Given the description of an element on the screen output the (x, y) to click on. 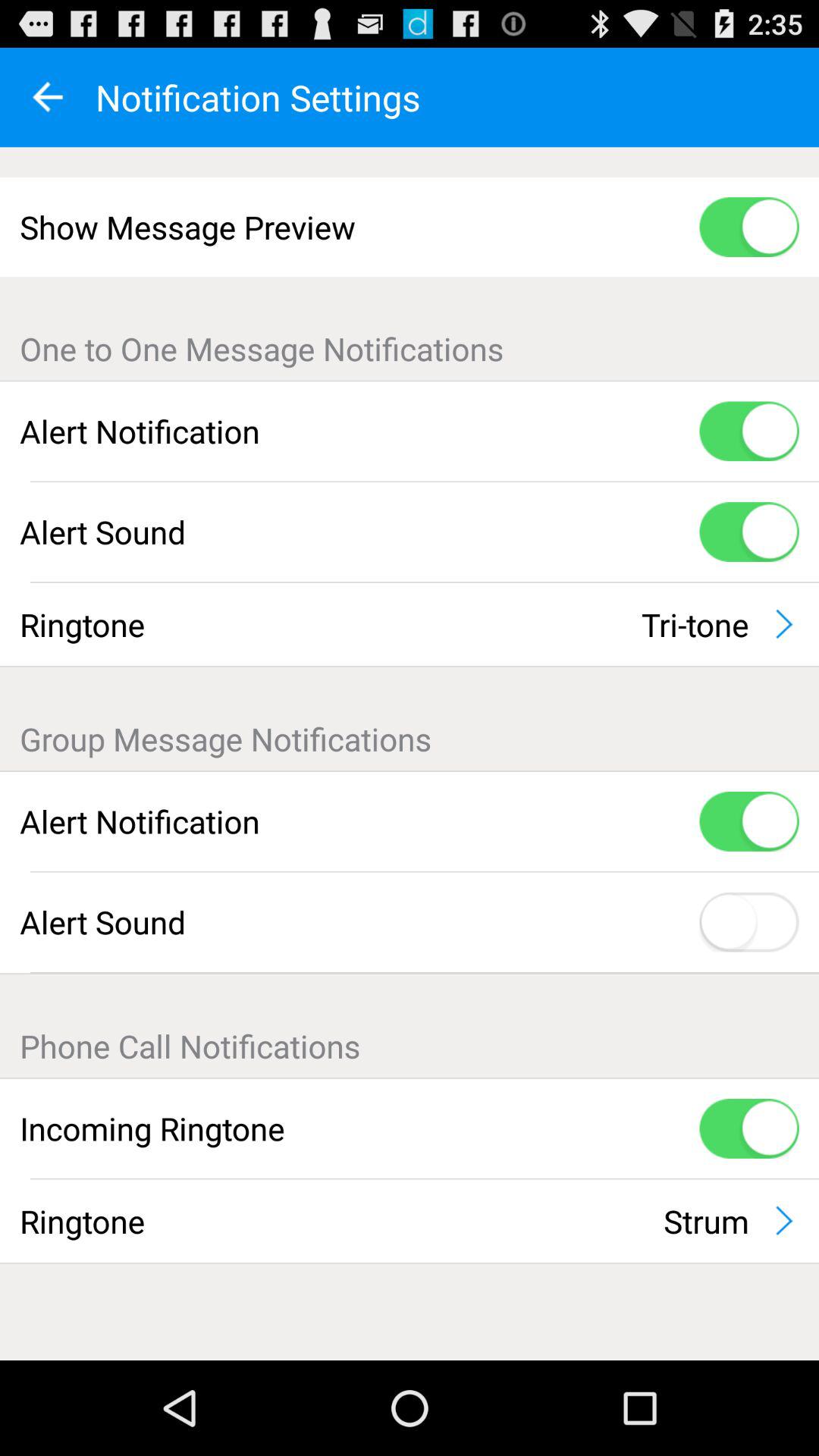
open the icon next to incoming ringtone (749, 1128)
